Given the description of an element on the screen output the (x, y) to click on. 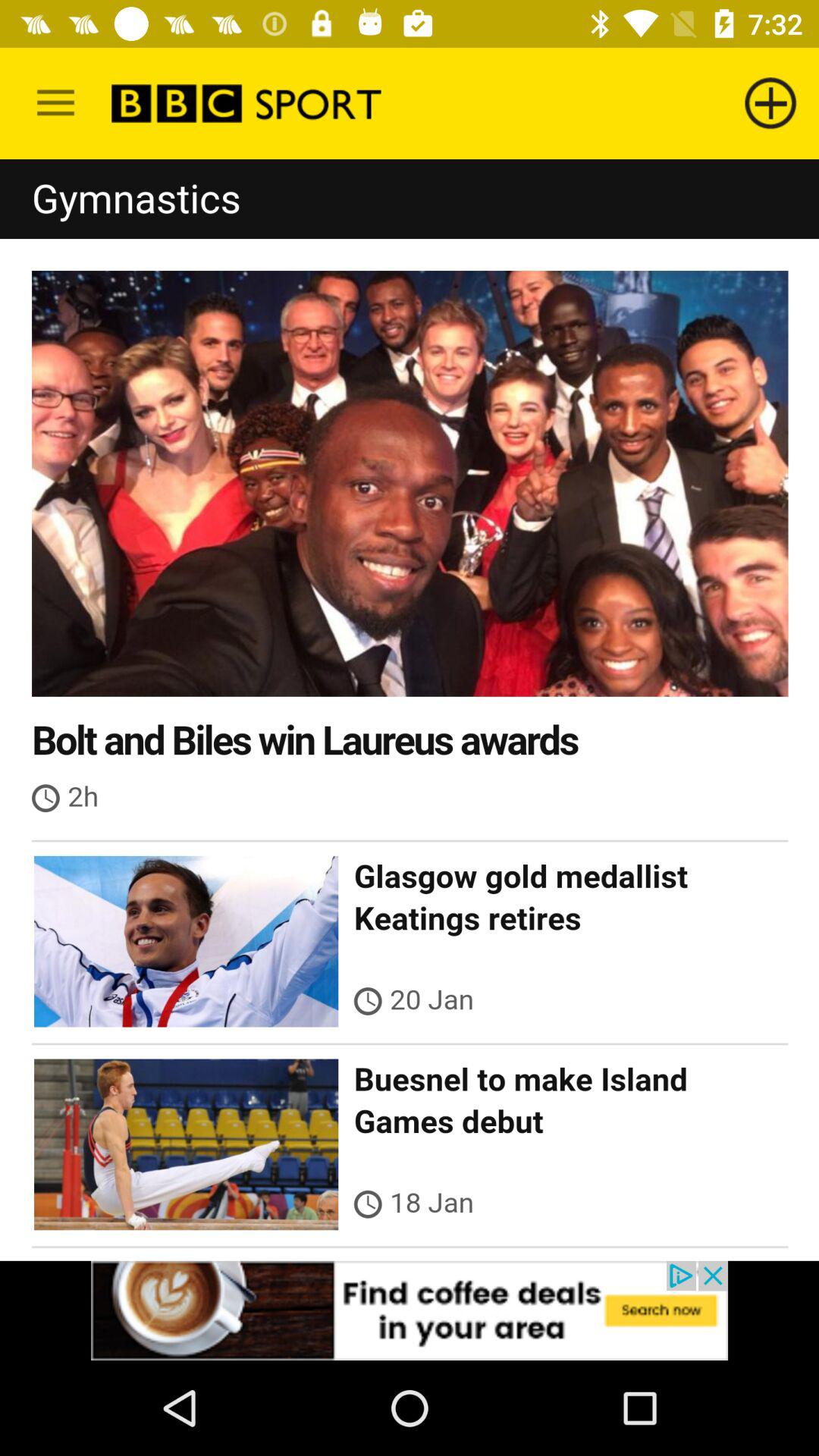
an advertisement (409, 1310)
